Given the description of an element on the screen output the (x, y) to click on. 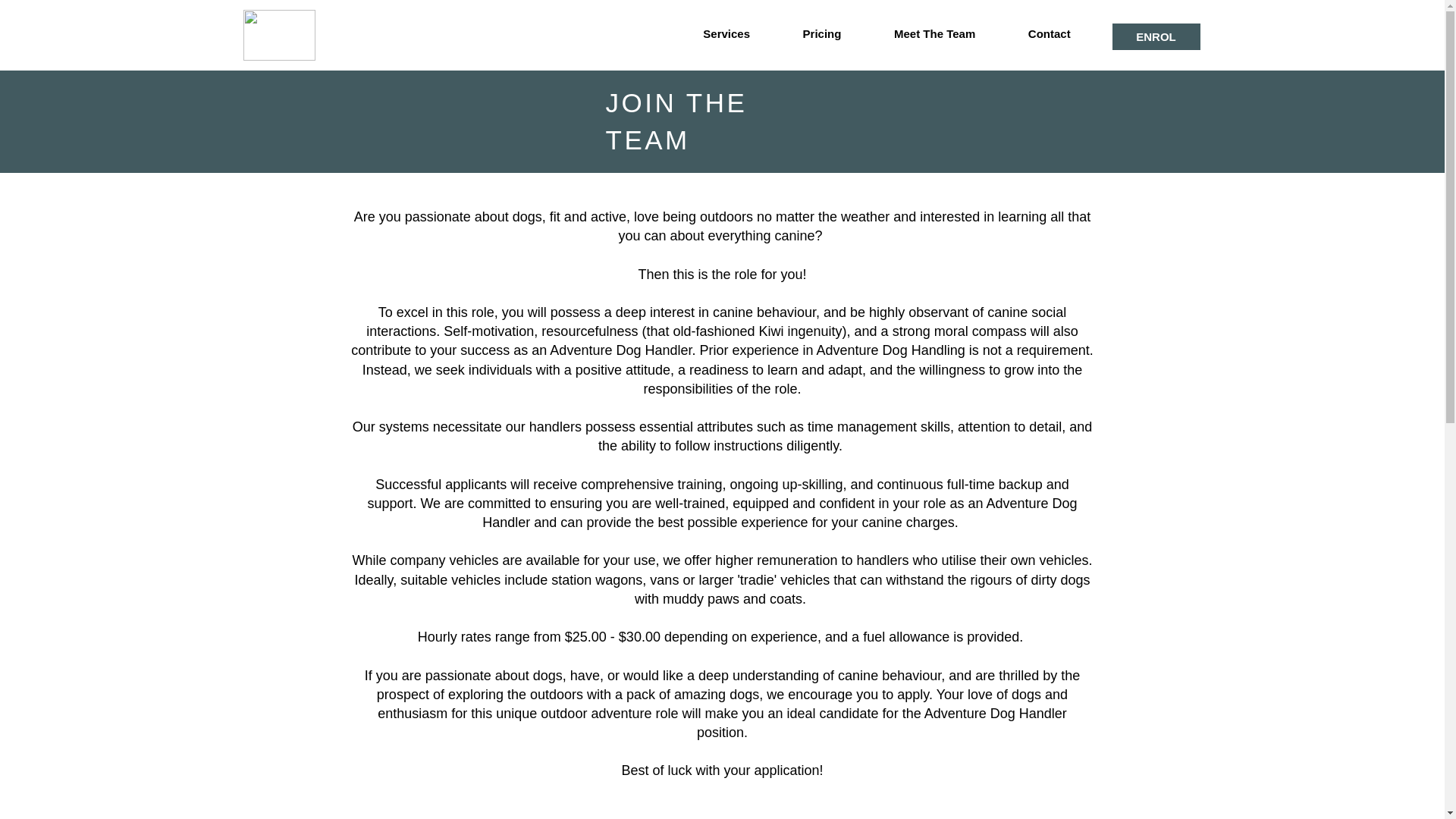
Contact (1048, 34)
Services (726, 34)
ENROL (1155, 36)
Meet The Team (934, 34)
Pricing (821, 34)
